Given the description of an element on the screen output the (x, y) to click on. 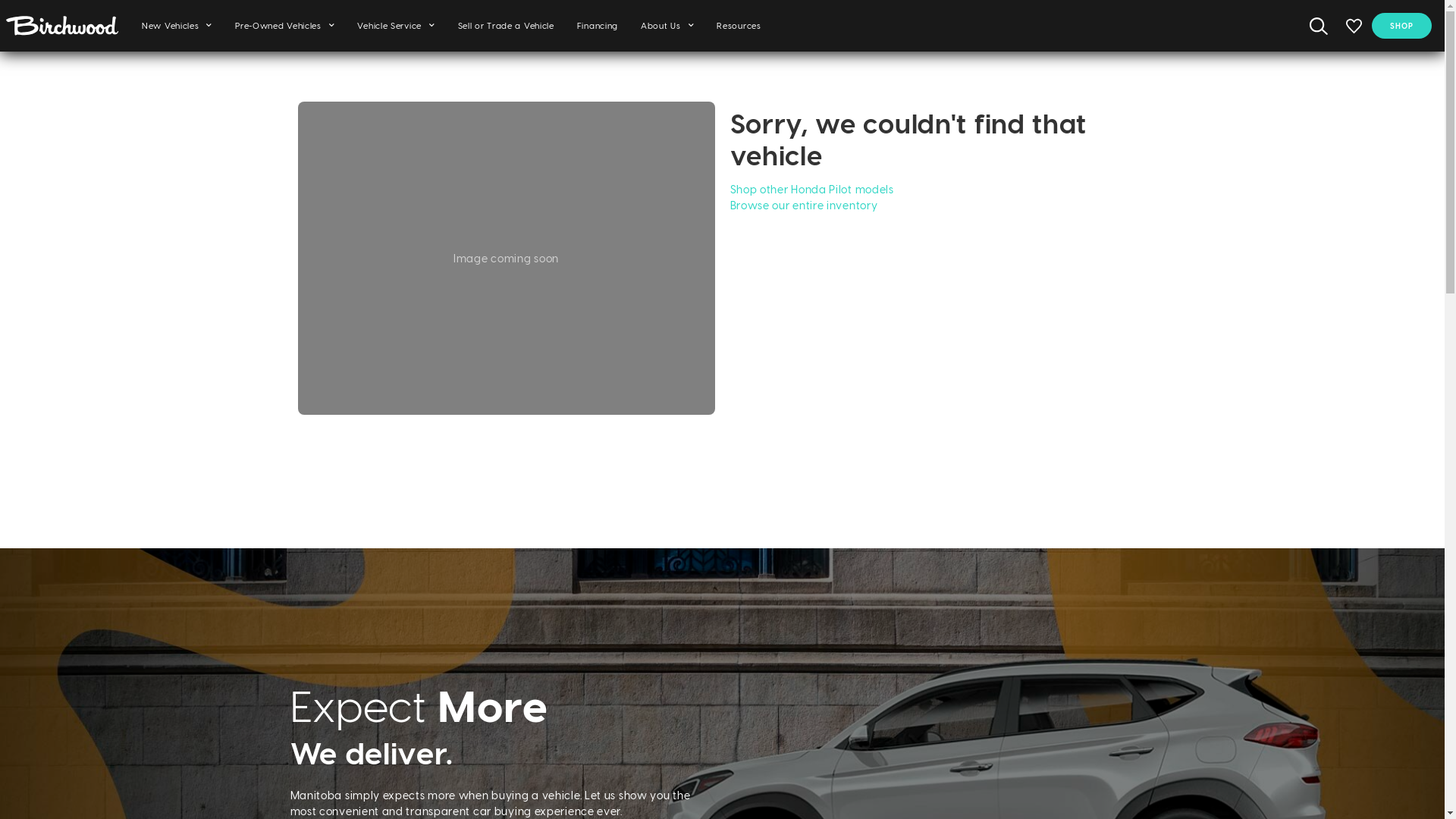
About Us Element type: text (667, 25)
My Vehicles Element type: text (1353, 25)
Sell or Trade a Vehicle Element type: text (505, 25)
Resources Element type: text (738, 25)
Pre-Owned Vehicles Element type: text (284, 25)
New Vehicles Element type: text (176, 25)
Birchwood-Logo-White.svg Element type: hover (62, 25)
Shop other Honda Pilot models Element type: text (811, 188)
SHOP Element type: text (1401, 25)
Browse our entire inventory Element type: text (803, 204)
Vehicle Service Element type: text (395, 25)
Financing Element type: text (597, 25)
